Given the description of an element on the screen output the (x, y) to click on. 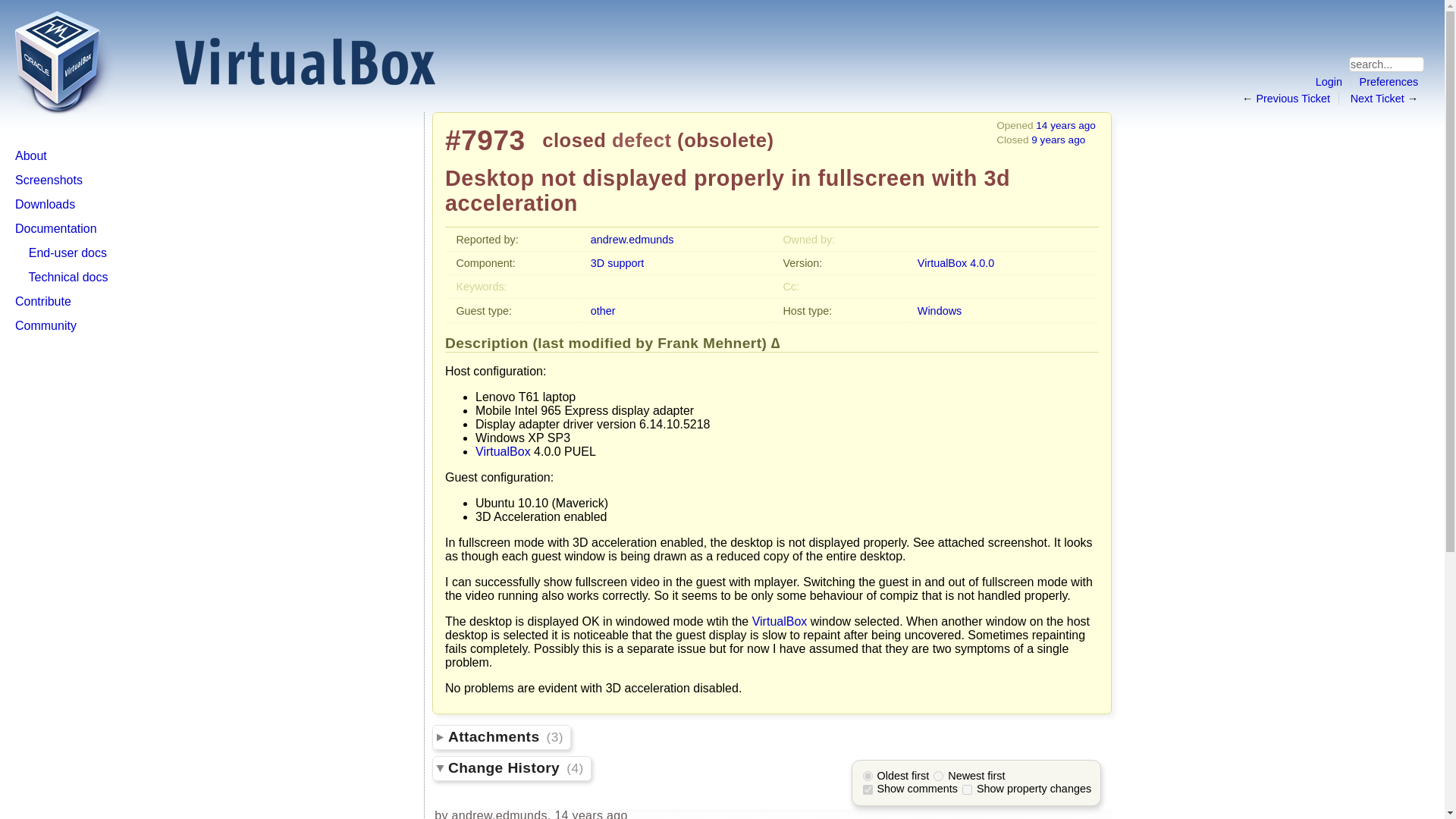
andrew.edmunds (632, 239)
defect (641, 139)
Login (1329, 81)
Community (45, 325)
Windows (938, 310)
VirtualBox (780, 621)
Downloads (44, 204)
Released Dec 21, 2010 11:00:00 PM (955, 263)
Contribute (42, 300)
3D support (617, 263)
